Given the description of an element on the screen output the (x, y) to click on. 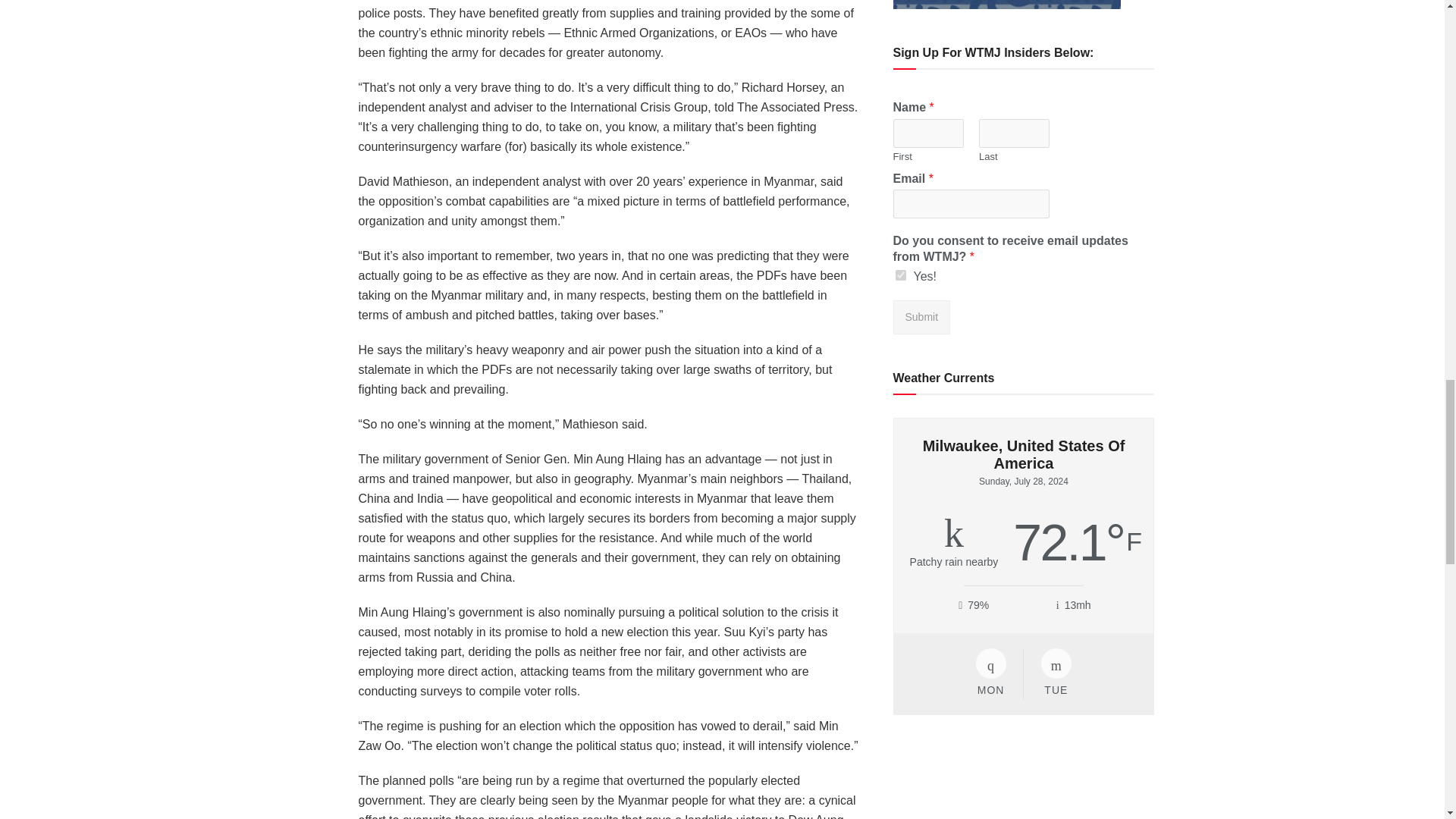
Yes! (900, 275)
